Given the description of an element on the screen output the (x, y) to click on. 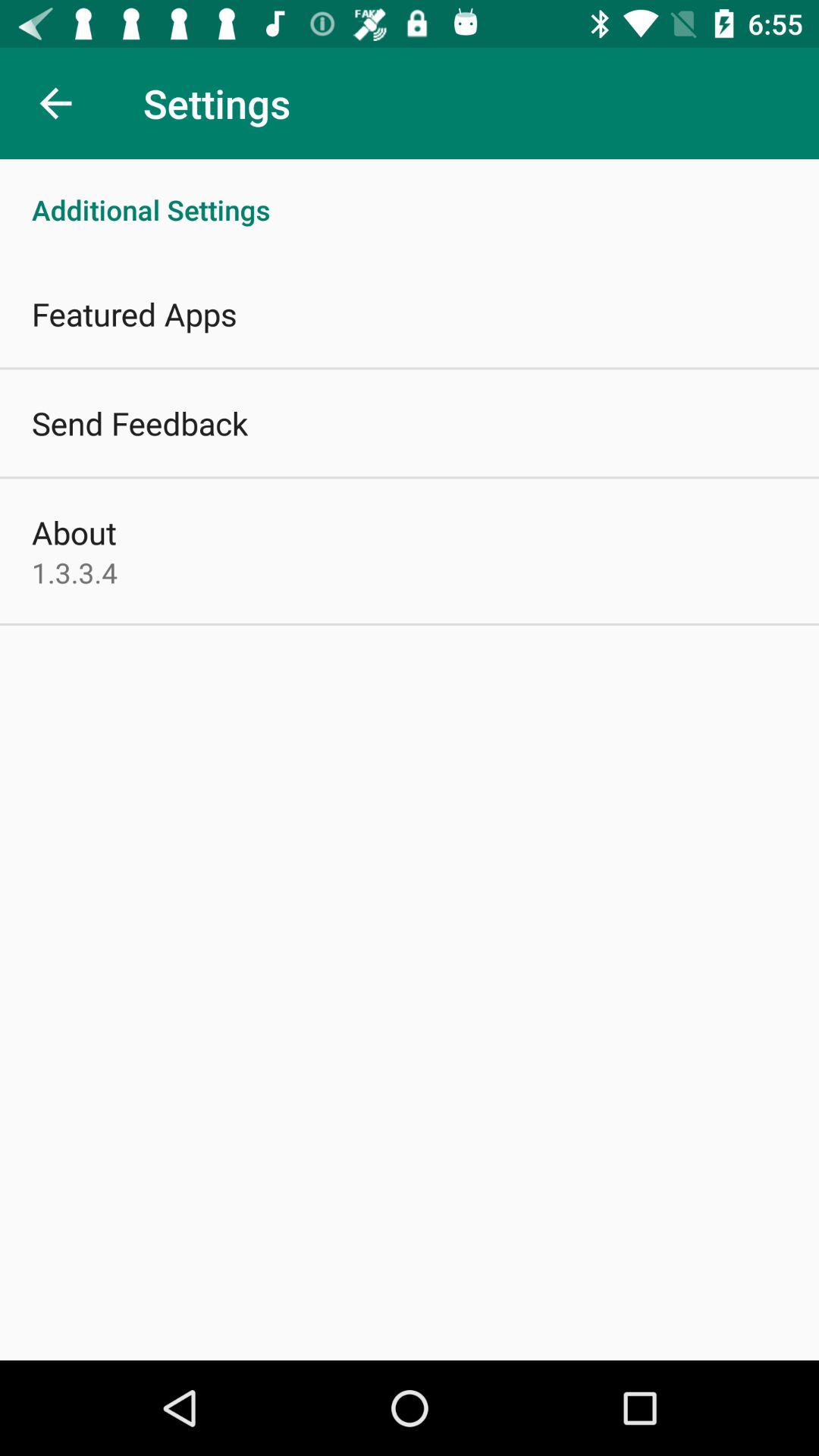
launch the item above the additional settings item (55, 103)
